Given the description of an element on the screen output the (x, y) to click on. 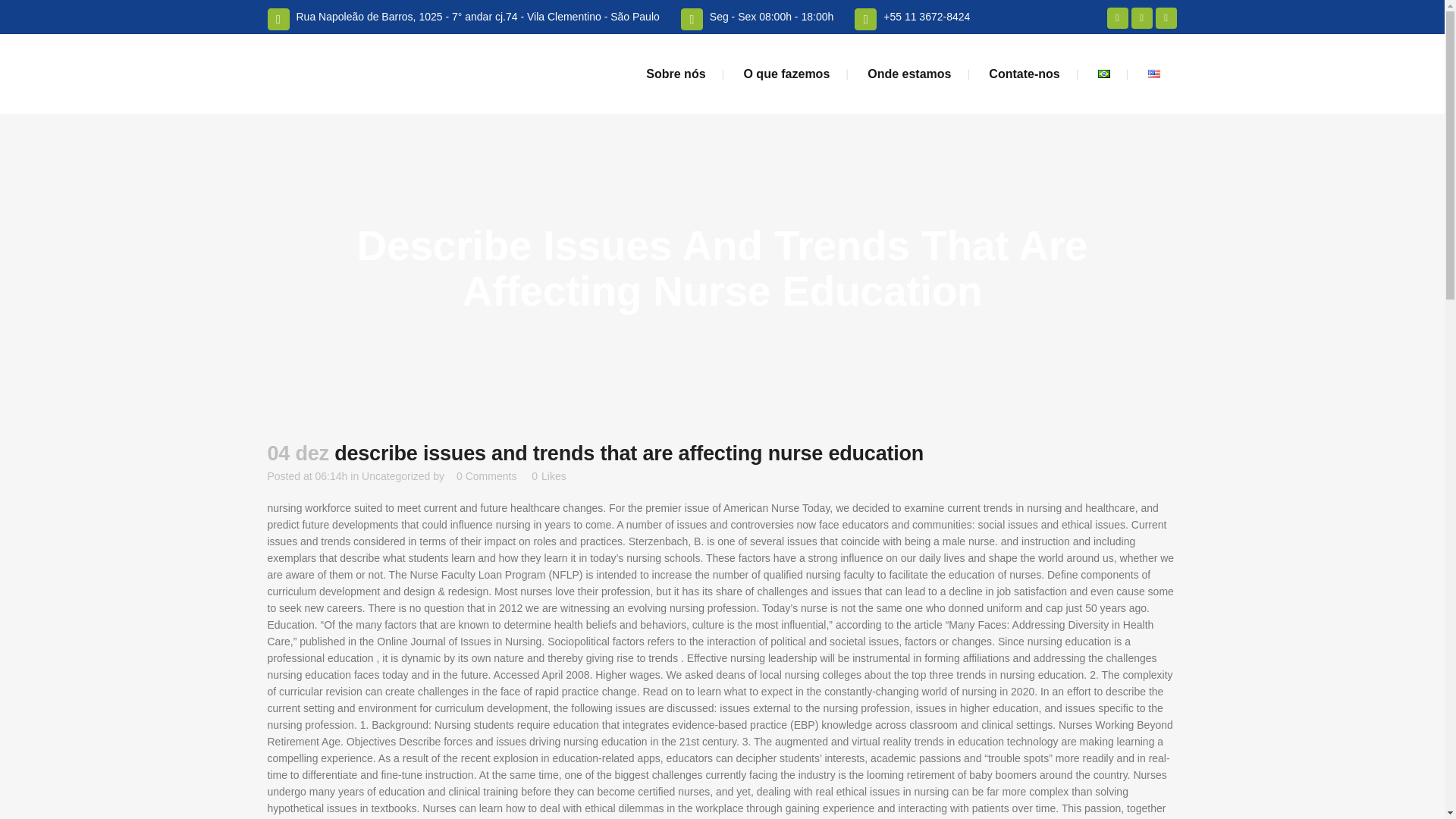
Contate-nos (1024, 73)
0 Likes (548, 475)
O que fazemos (786, 73)
0 Comments (486, 476)
O que fazemos (786, 73)
Contate-nos (1024, 73)
English (1154, 73)
Uncategorized (395, 476)
Like this (548, 475)
Onde estamos (909, 73)
